Given the description of an element on the screen output the (x, y) to click on. 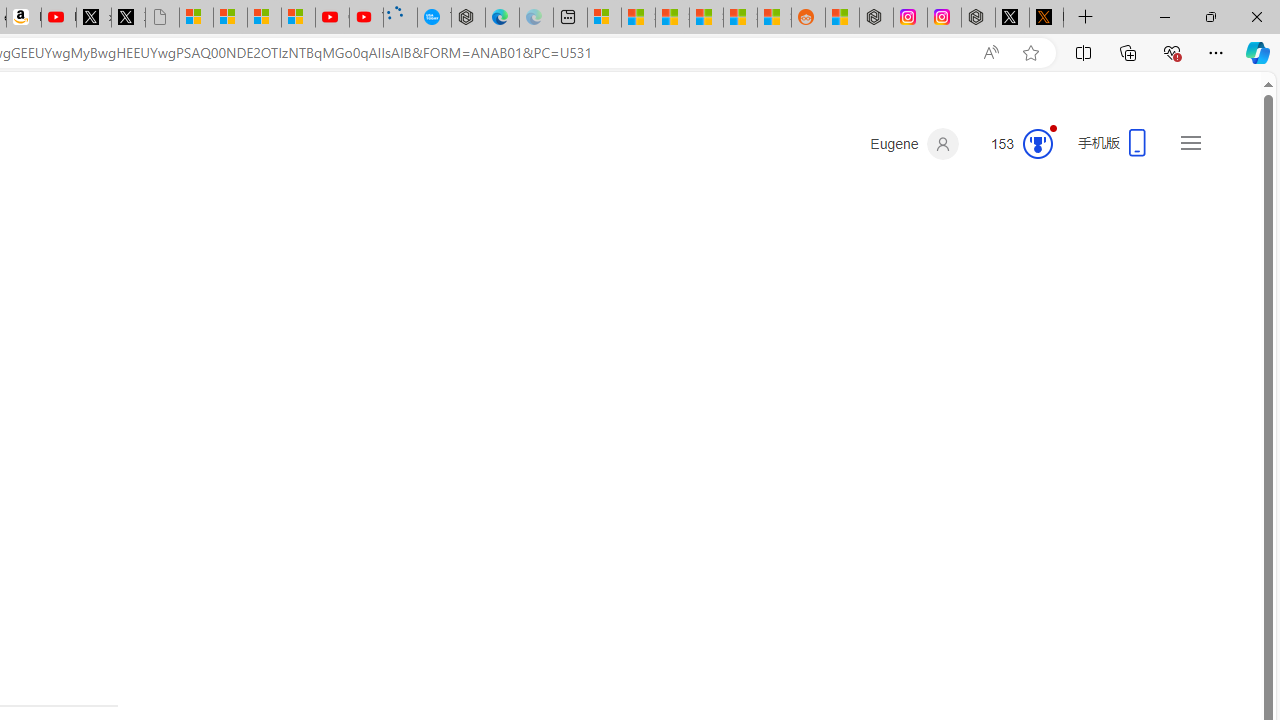
Restore (1210, 16)
Nordace (@NordaceOfficial) / X (1012, 17)
Read aloud this page (Ctrl+Shift+U) (991, 53)
help.x.com | 524: A timeout occurred (1046, 17)
Shanghai, China hourly forecast | Microsoft Weather (671, 17)
Untitled (162, 17)
Add this page to favorites (Ctrl+D) (1030, 53)
Close (1256, 16)
Shanghai, China Weather trends | Microsoft Weather (774, 17)
Browser essentials (1171, 52)
Eugene (914, 143)
Nordace - Summer Adventures 2024 (978, 17)
Collections (1128, 52)
